Given the description of an element on the screen output the (x, y) to click on. 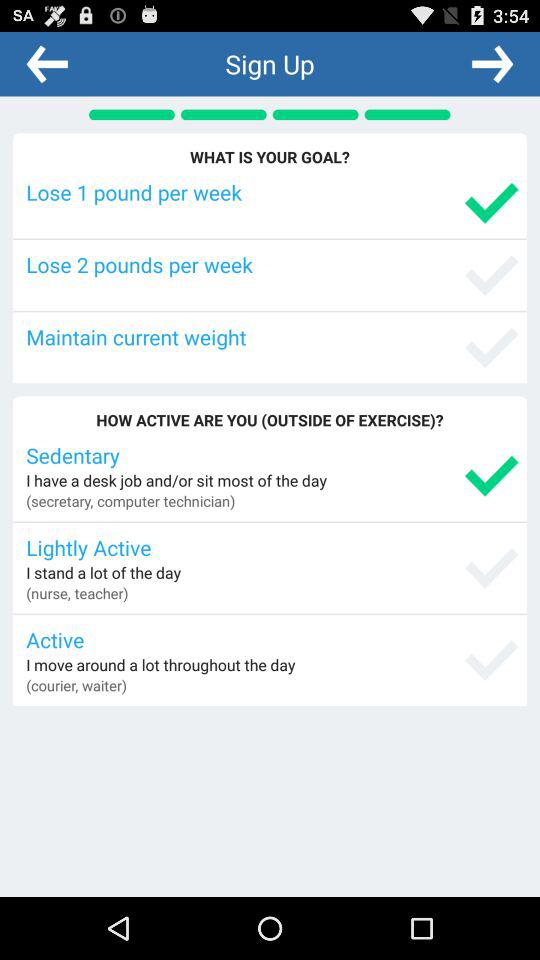
launch icon below the i stand a app (77, 593)
